Given the description of an element on the screen output the (x, y) to click on. 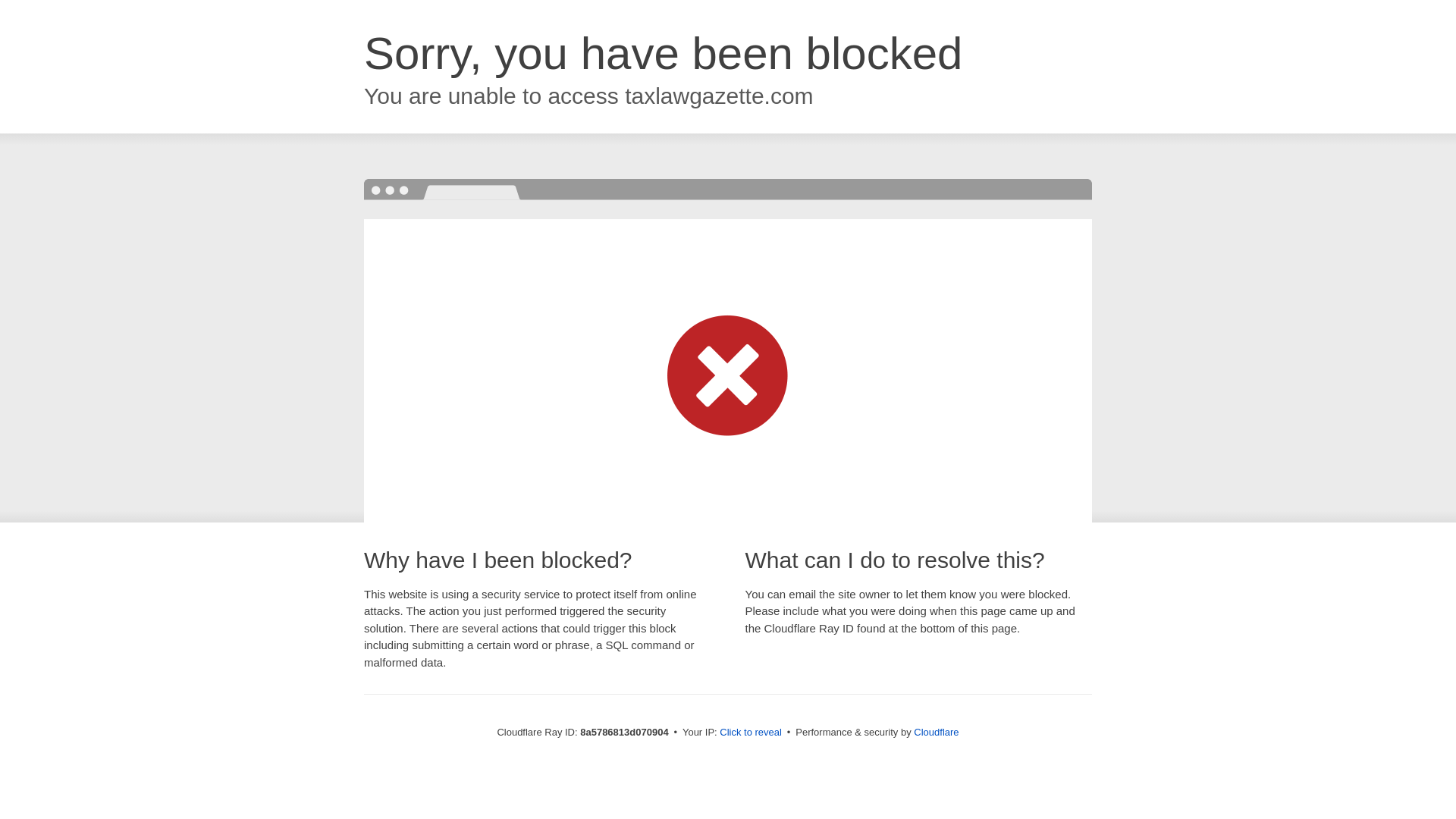
Cloudflare (936, 731)
Click to reveal (750, 732)
